Given the description of an element on the screen output the (x, y) to click on. 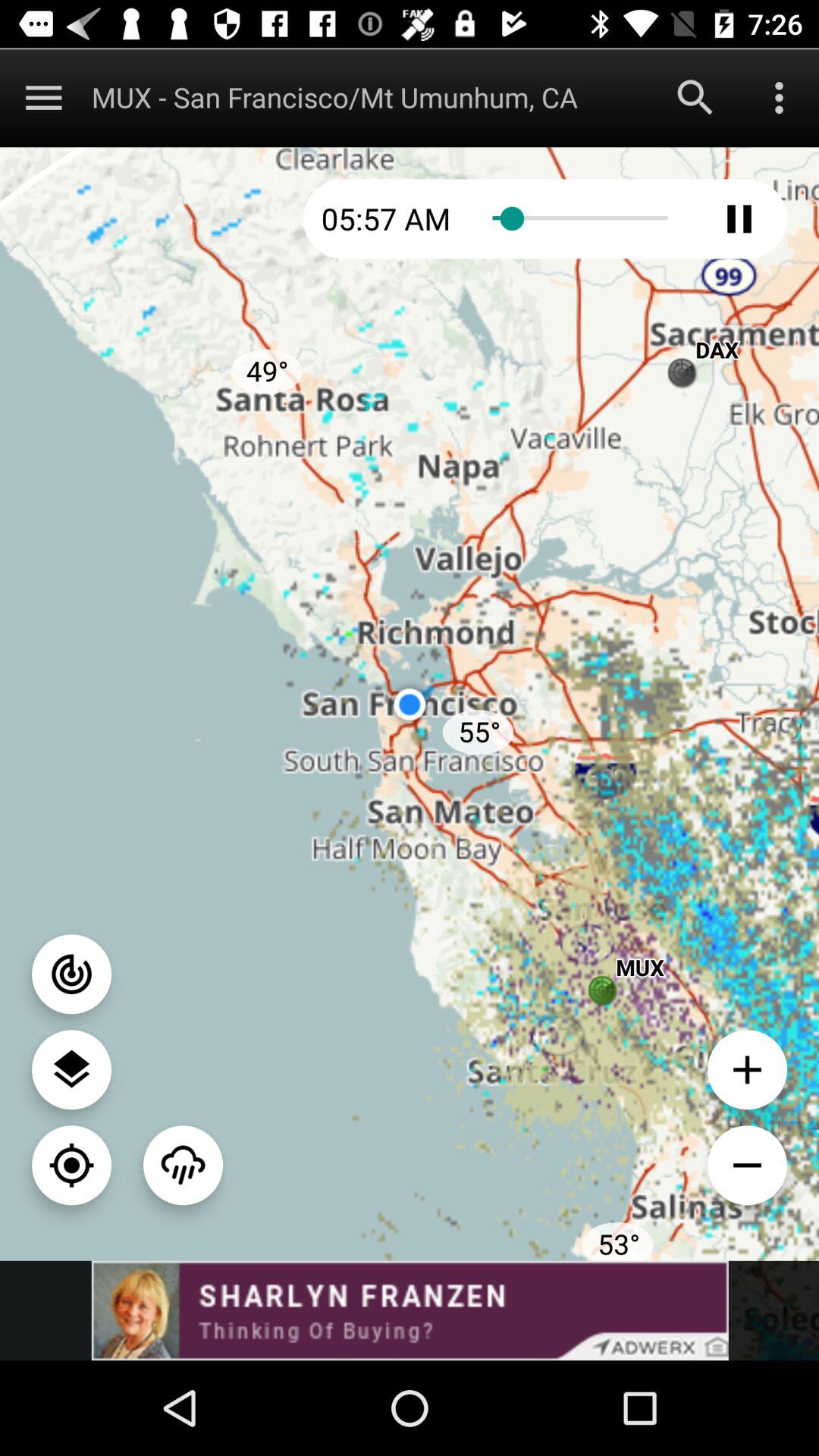
click in three dots to open menu (779, 97)
